Given the description of an element on the screen output the (x, y) to click on. 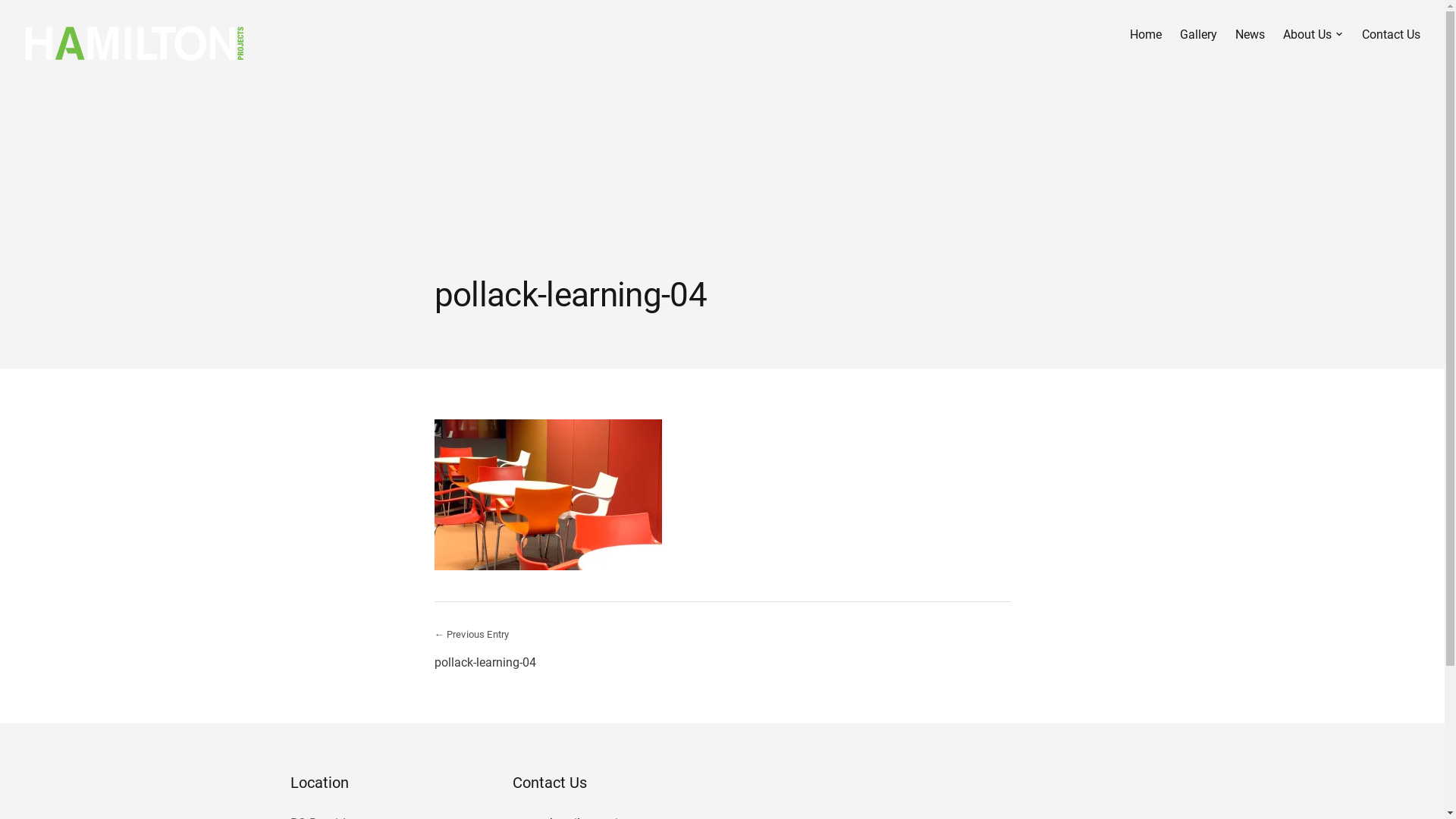
Gallery Element type: text (1198, 34)
Previous Entry
pollack-learning-04 Element type: text (574, 647)
Home Element type: text (1145, 34)
Contact Us Element type: text (1390, 34)
About Us Element type: text (1313, 34)
News Element type: text (1249, 34)
